Given the description of an element on the screen output the (x, y) to click on. 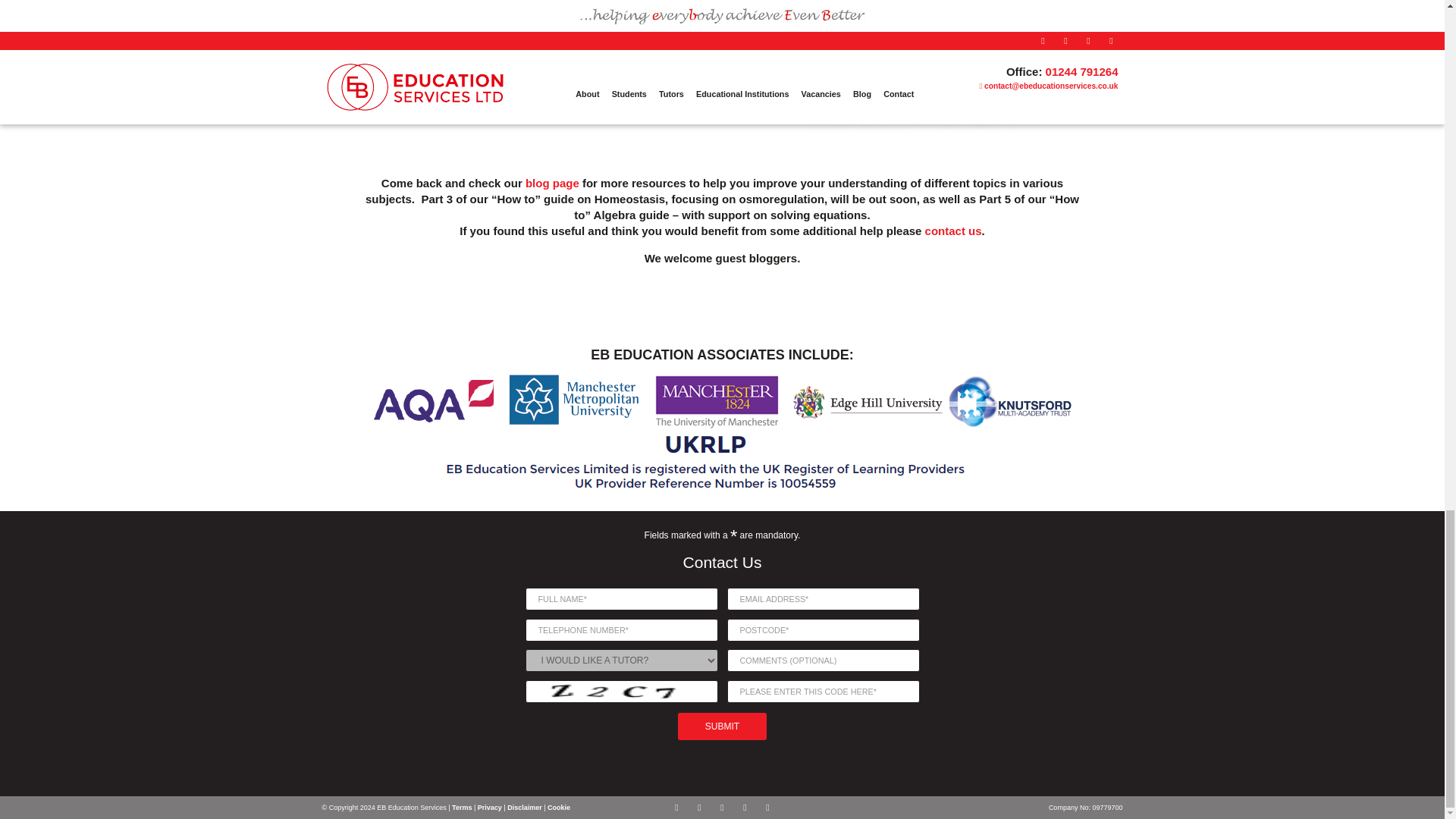
SUBMIT (722, 726)
